Given the description of an element on the screen output the (x, y) to click on. 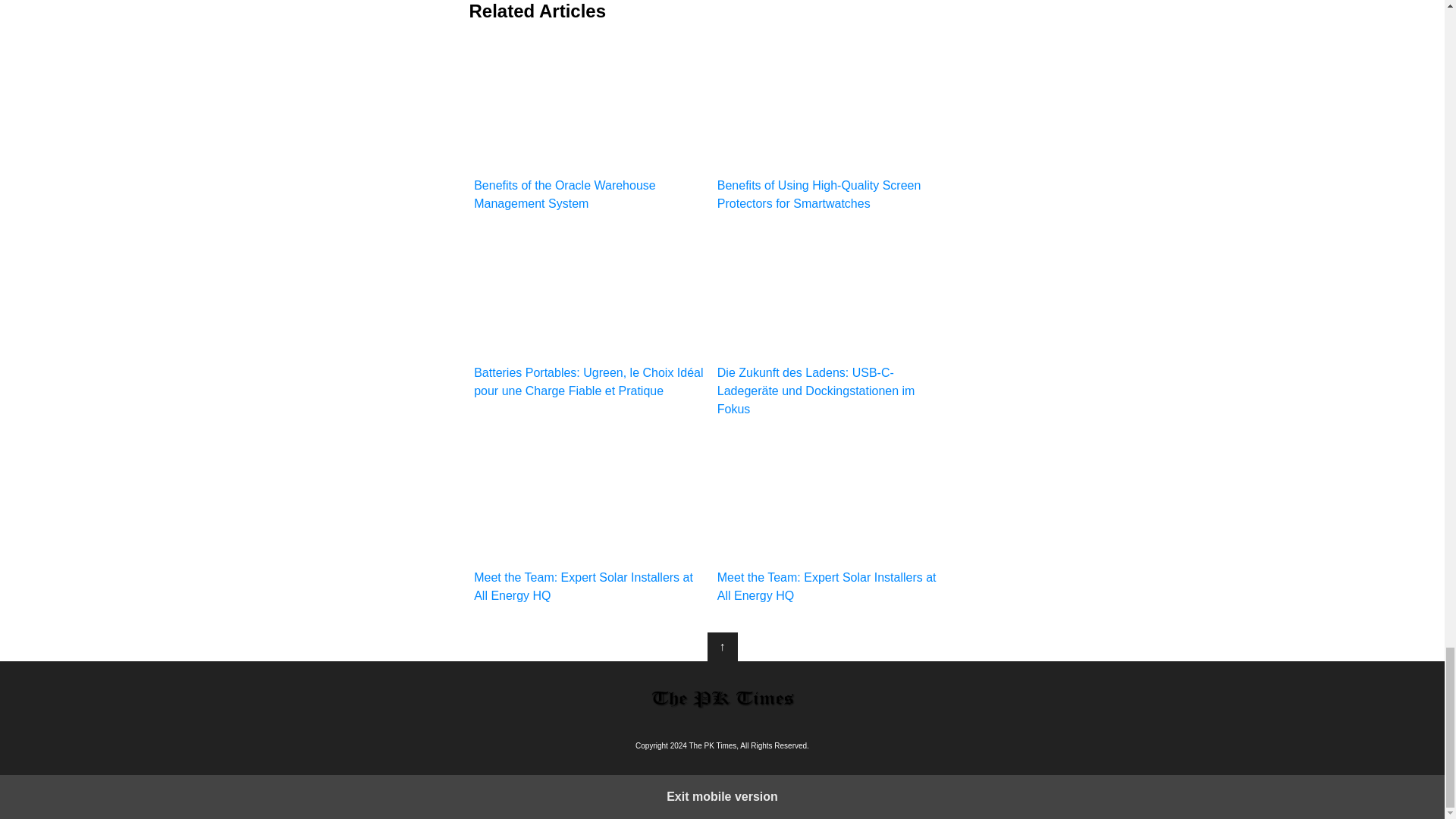
Meet the Team: Expert Solar Installers at All Energy HQ (590, 518)
Benefits of the Oracle Warehouse Management System (590, 126)
Meet the Team: Expert Solar Installers at All Energy HQ (833, 518)
The PK Times (721, 698)
